Given the description of an element on the screen output the (x, y) to click on. 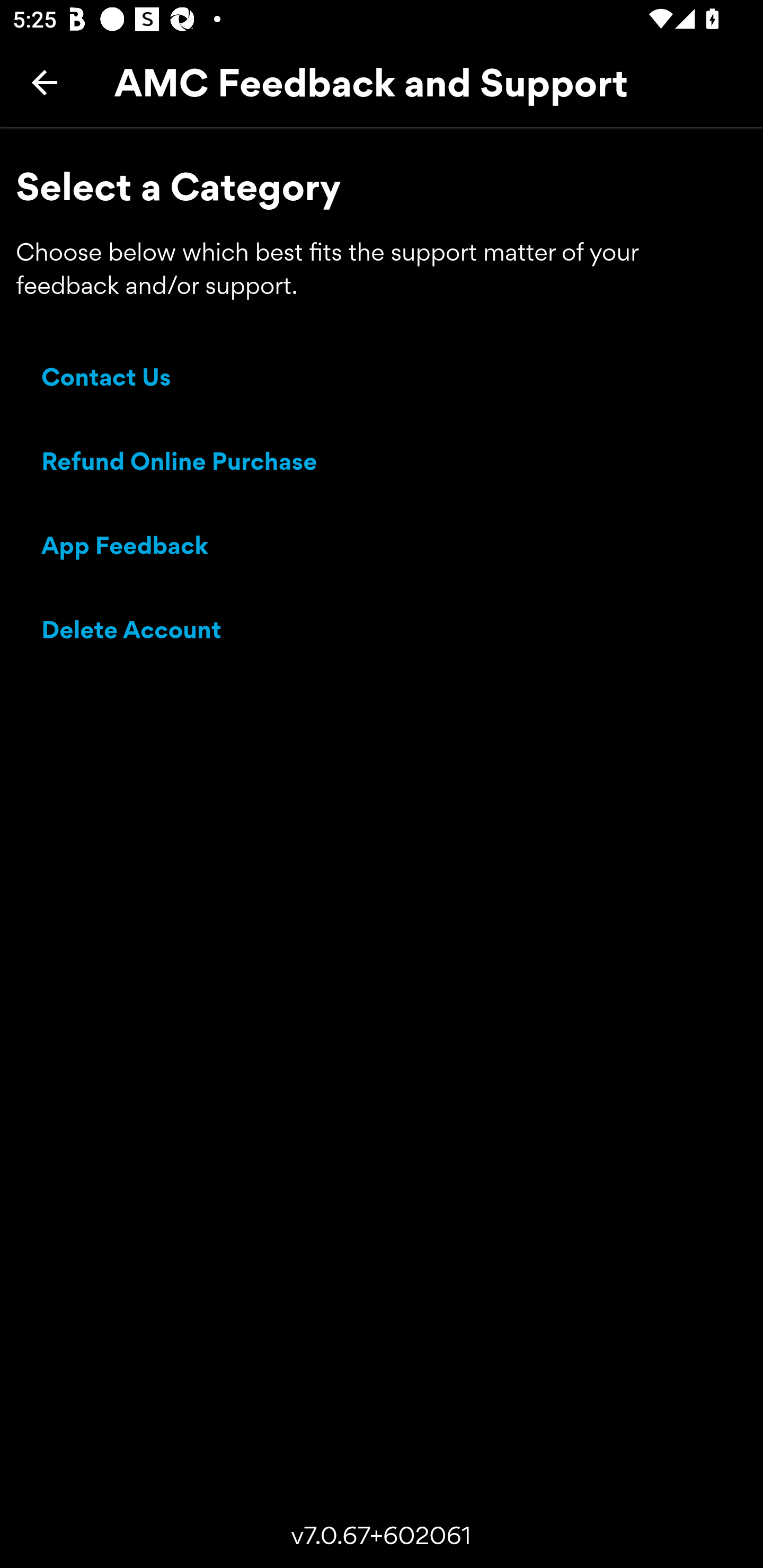
Back (44, 82)
Contact Us (106, 379)
Refund Online Purchase (179, 463)
App Feedback (125, 547)
Delete Account (131, 632)
